Given the description of an element on the screen output the (x, y) to click on. 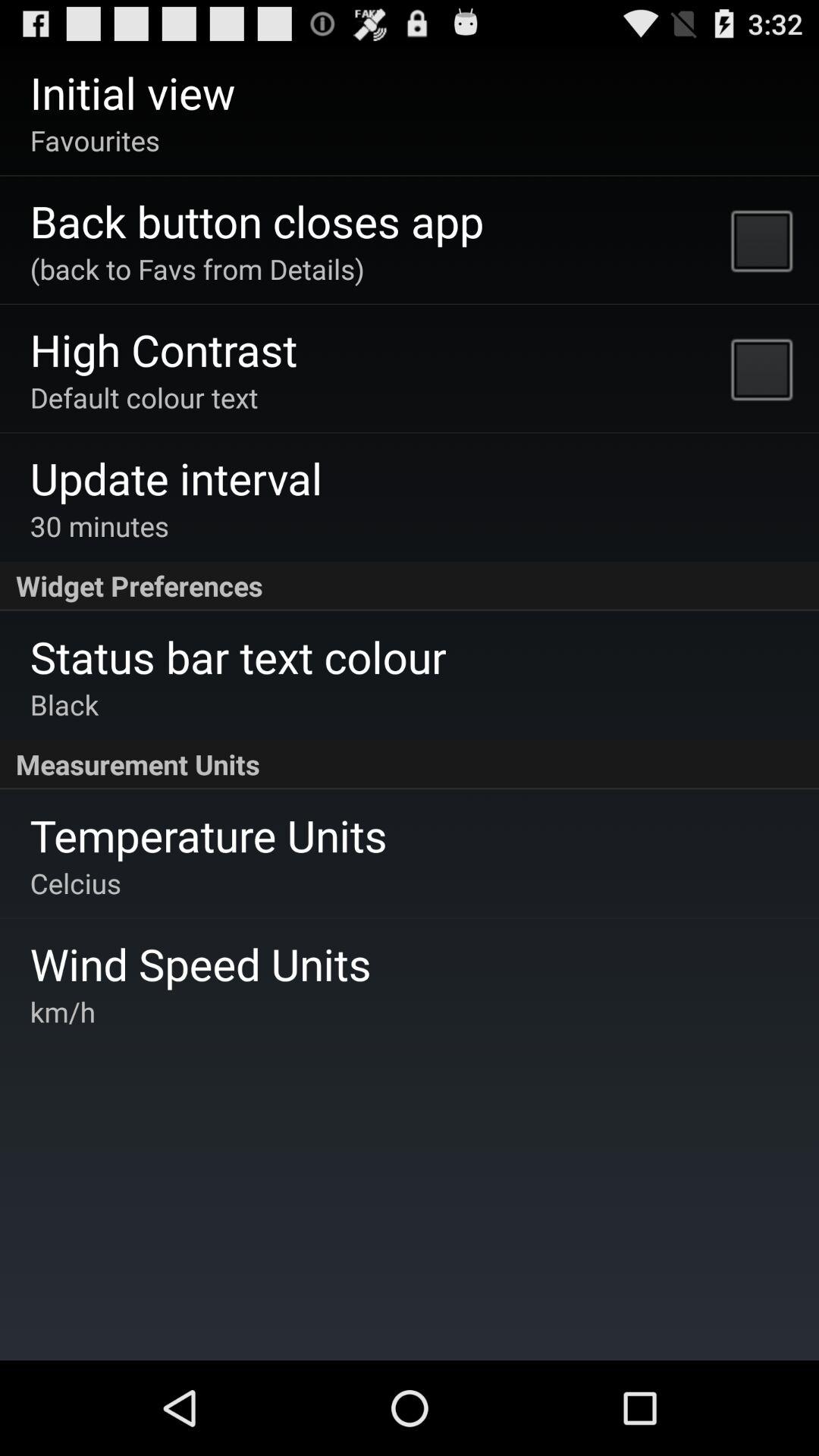
flip to high contrast item (163, 349)
